Given the description of an element on the screen output the (x, y) to click on. 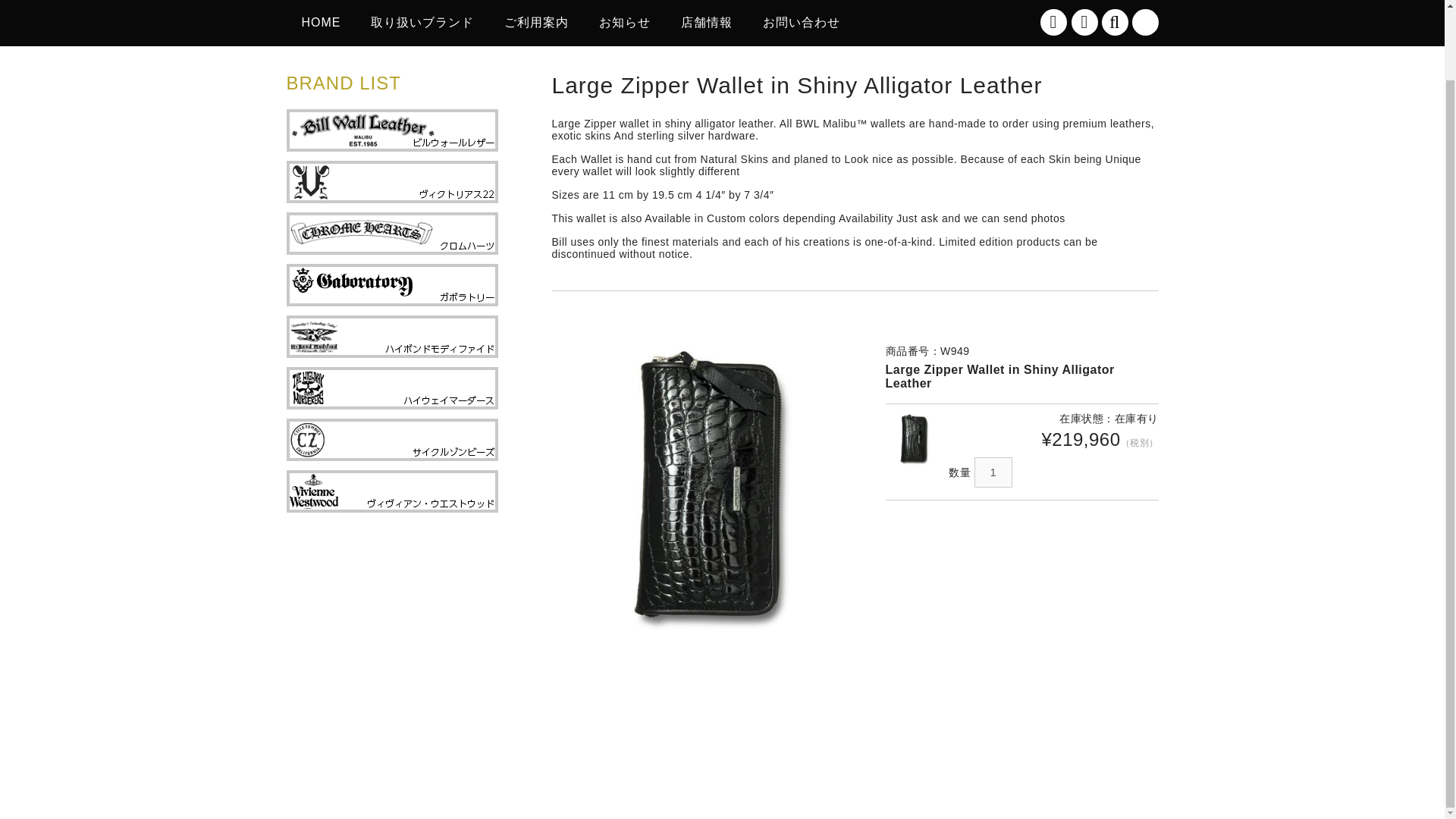
Victorious22la (333, 795)
1 (992, 472)
0 (1144, 22)
HOME (321, 22)
BillWallLeather (435, 795)
